Given the description of an element on the screen output the (x, y) to click on. 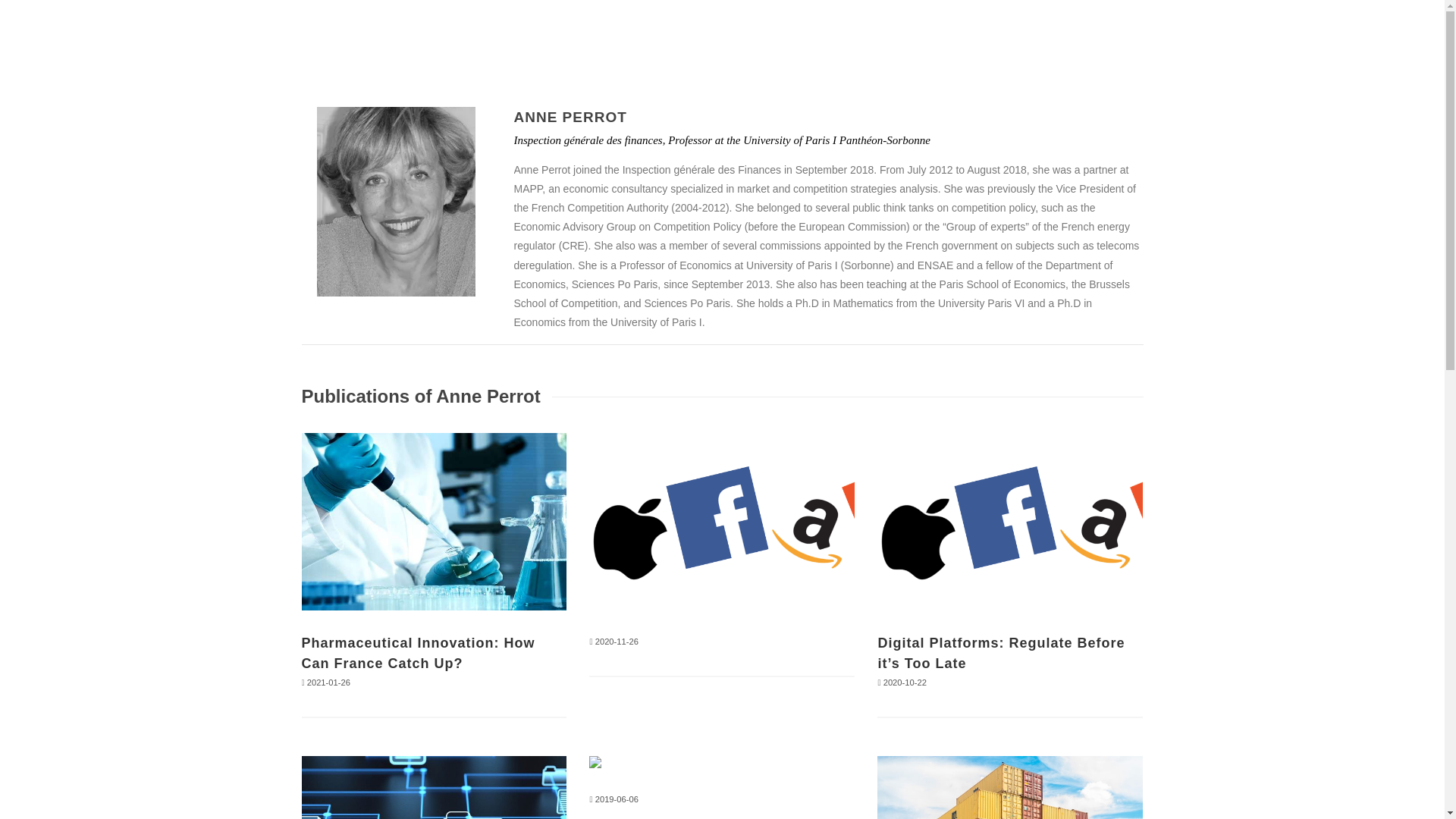
Pharmaceutical Innovation: How Can France Catch Up? (418, 652)
